Given the description of an element on the screen output the (x, y) to click on. 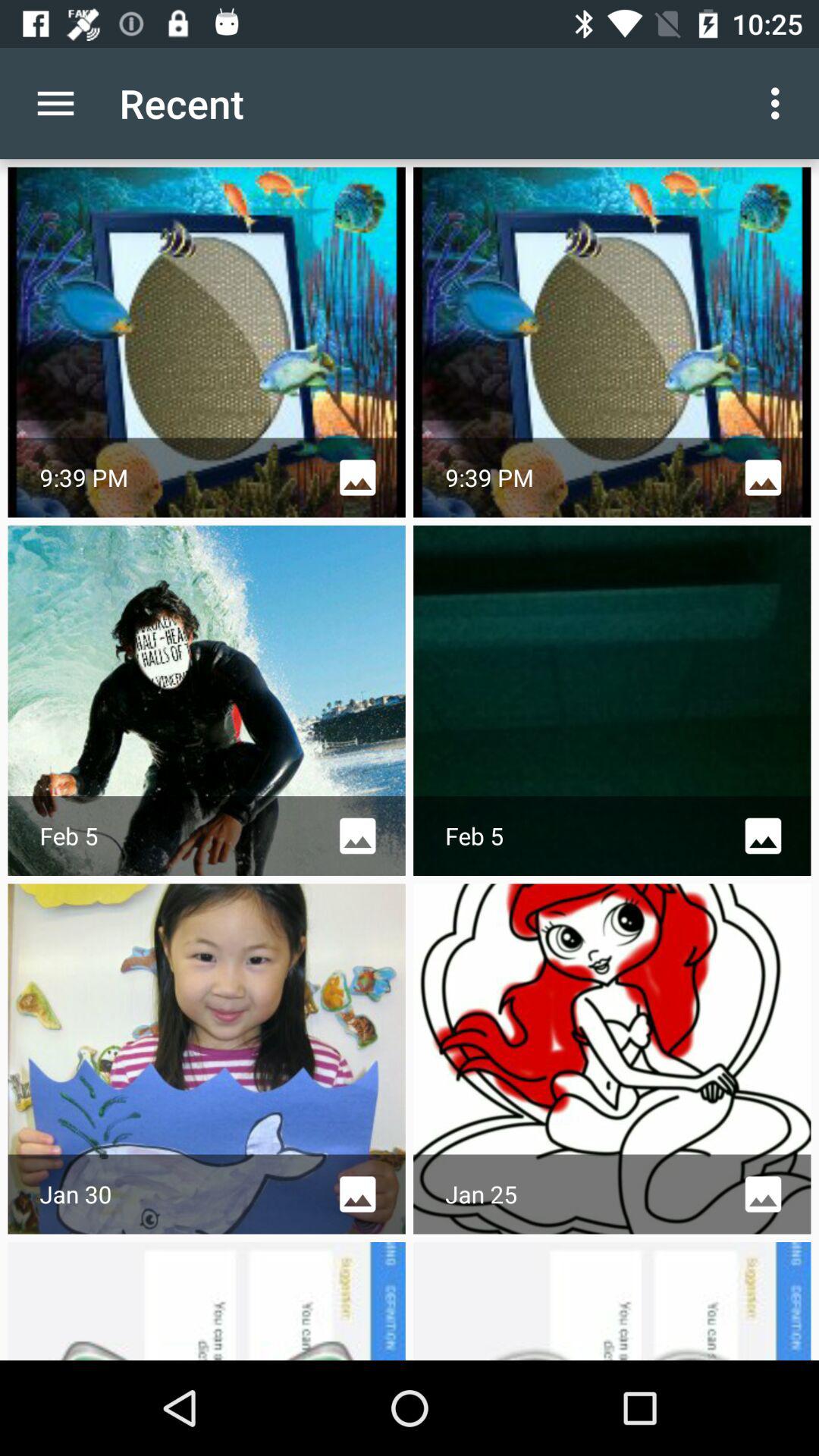
select the item to the left of the recent (55, 103)
